Given the description of an element on the screen output the (x, y) to click on. 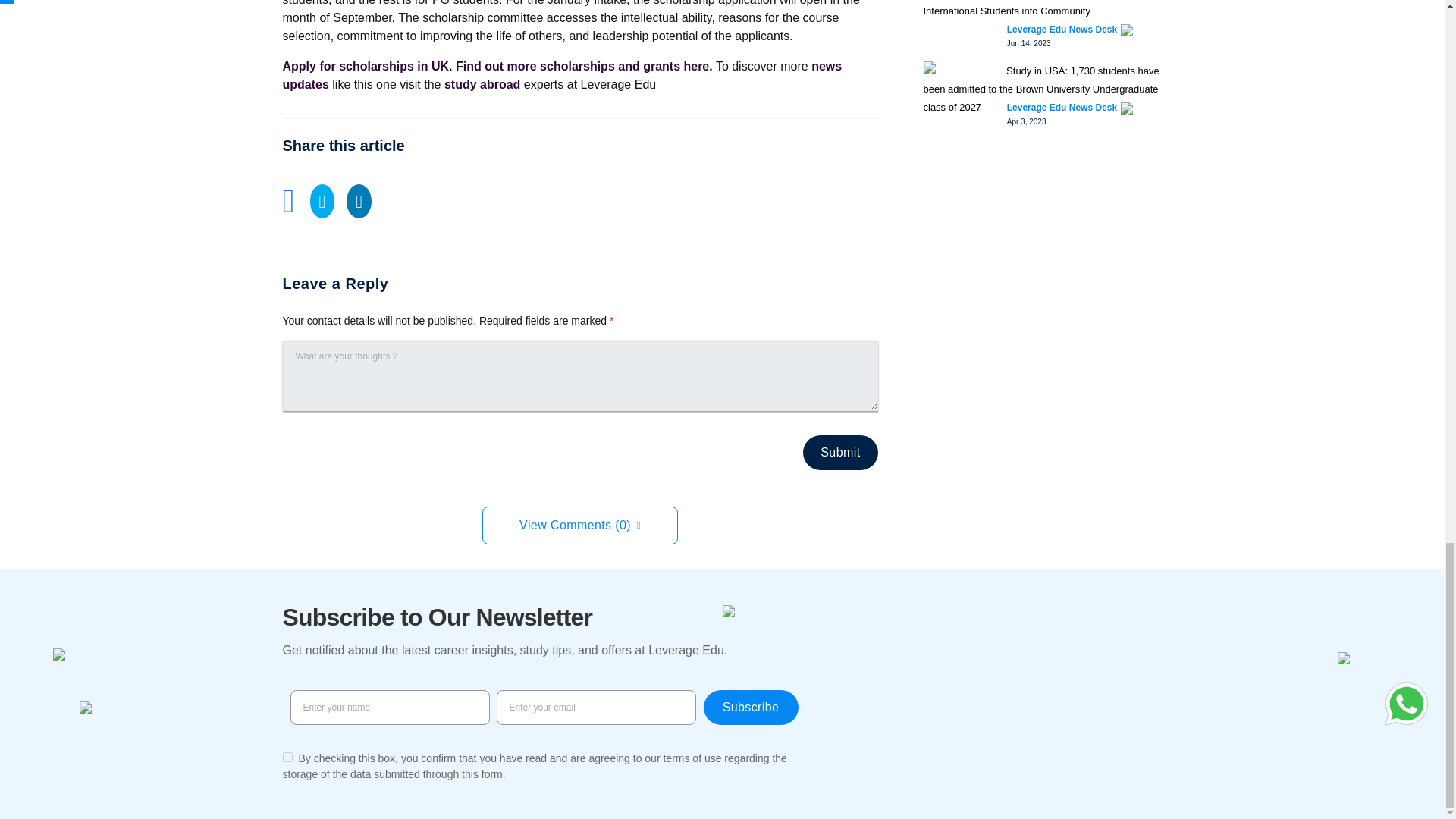
View all posts by Leverage Edu News Desk (1061, 29)
View all posts by Leverage Edu News Desk (1061, 107)
on (287, 757)
